Given the description of an element on the screen output the (x, y) to click on. 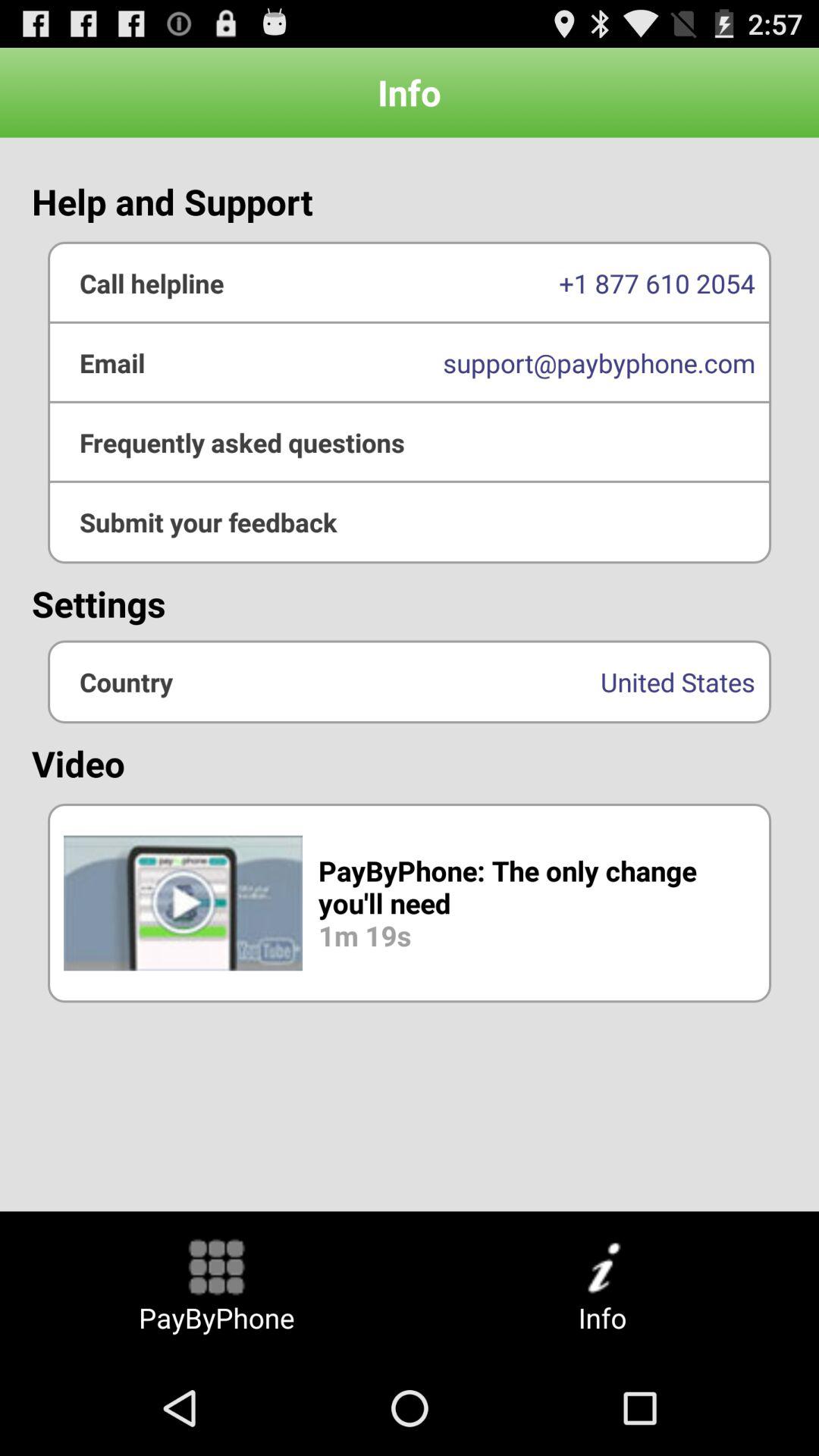
tap the item below settings (409, 681)
